Given the description of an element on the screen output the (x, y) to click on. 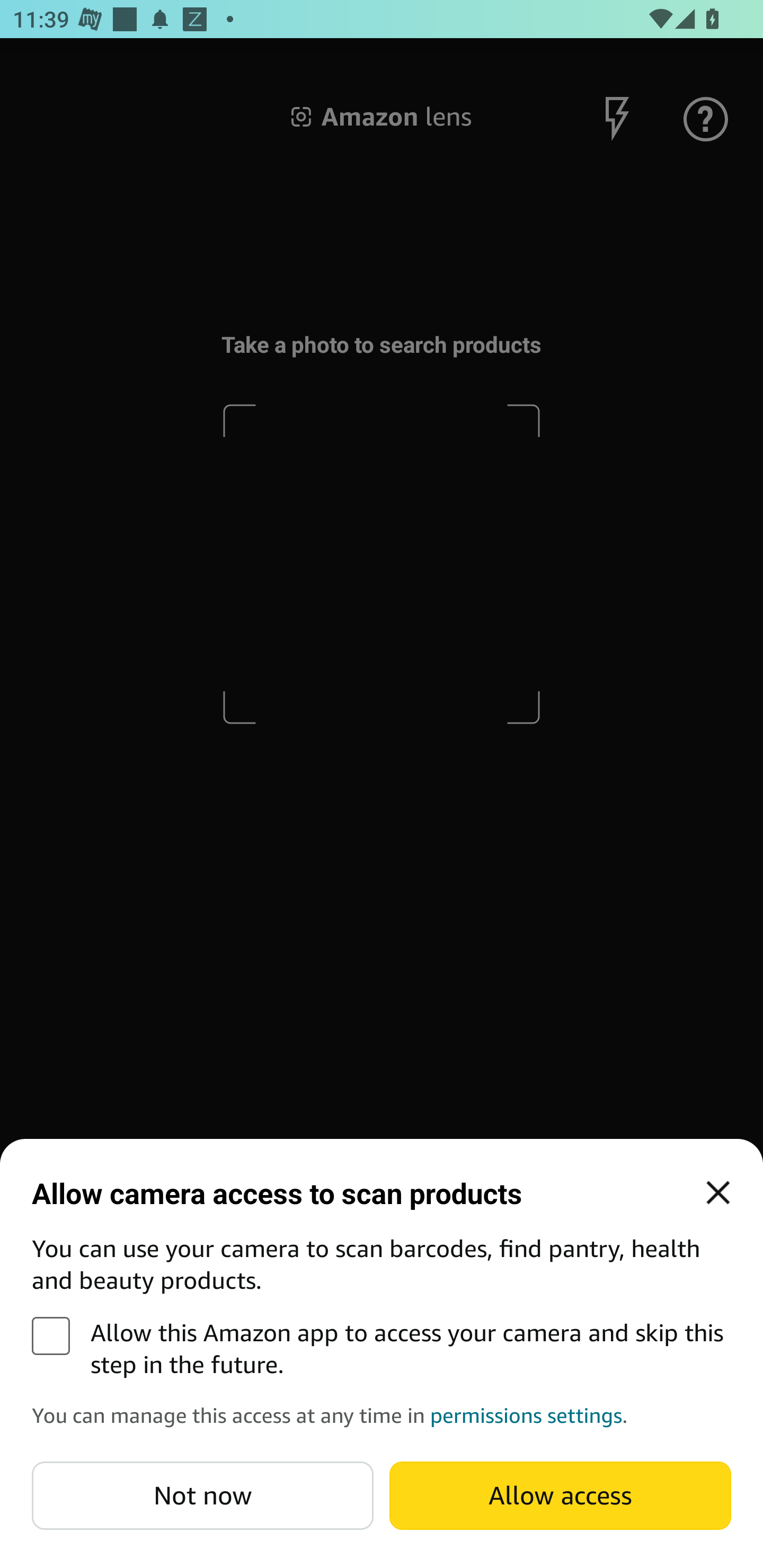
Close (717, 1192)
Not now (202, 1495)
Allow access (559, 1495)
